Given the description of an element on the screen output the (x, y) to click on. 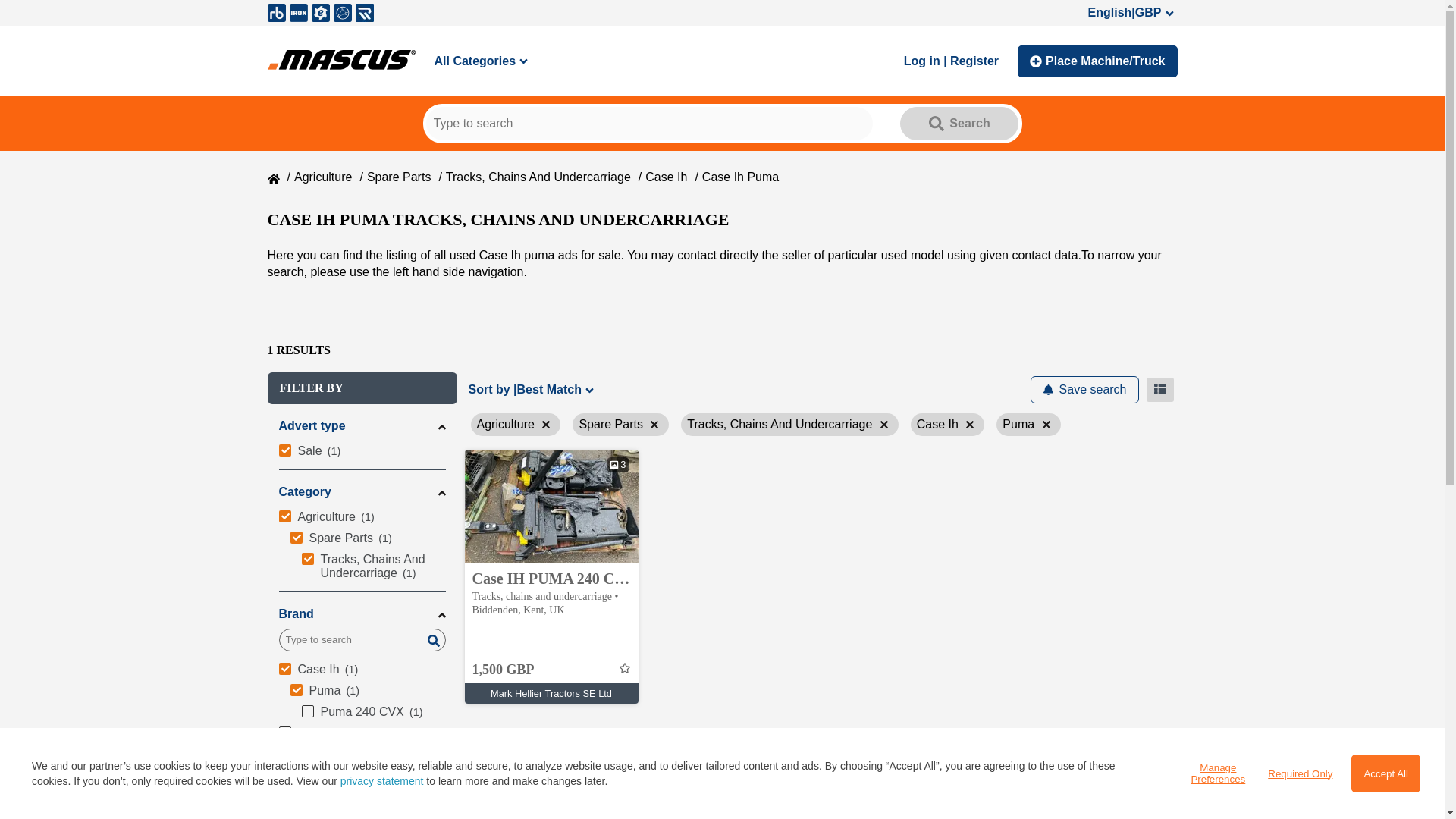
Accept All (1386, 773)
Spare Parts (398, 176)
Spare Parts (367, 537)
Advert type (362, 425)
Tracks, Chains And Undercarriage (537, 176)
Case Ih (362, 669)
Ofa (362, 796)
Puma (367, 690)
Case Ih (666, 176)
Puma 240 CVX (373, 711)
All Categories (481, 61)
Category (362, 491)
Agriculture (362, 516)
Same (362, 753)
Required Only (1299, 773)
